Given the description of an element on the screen output the (x, y) to click on. 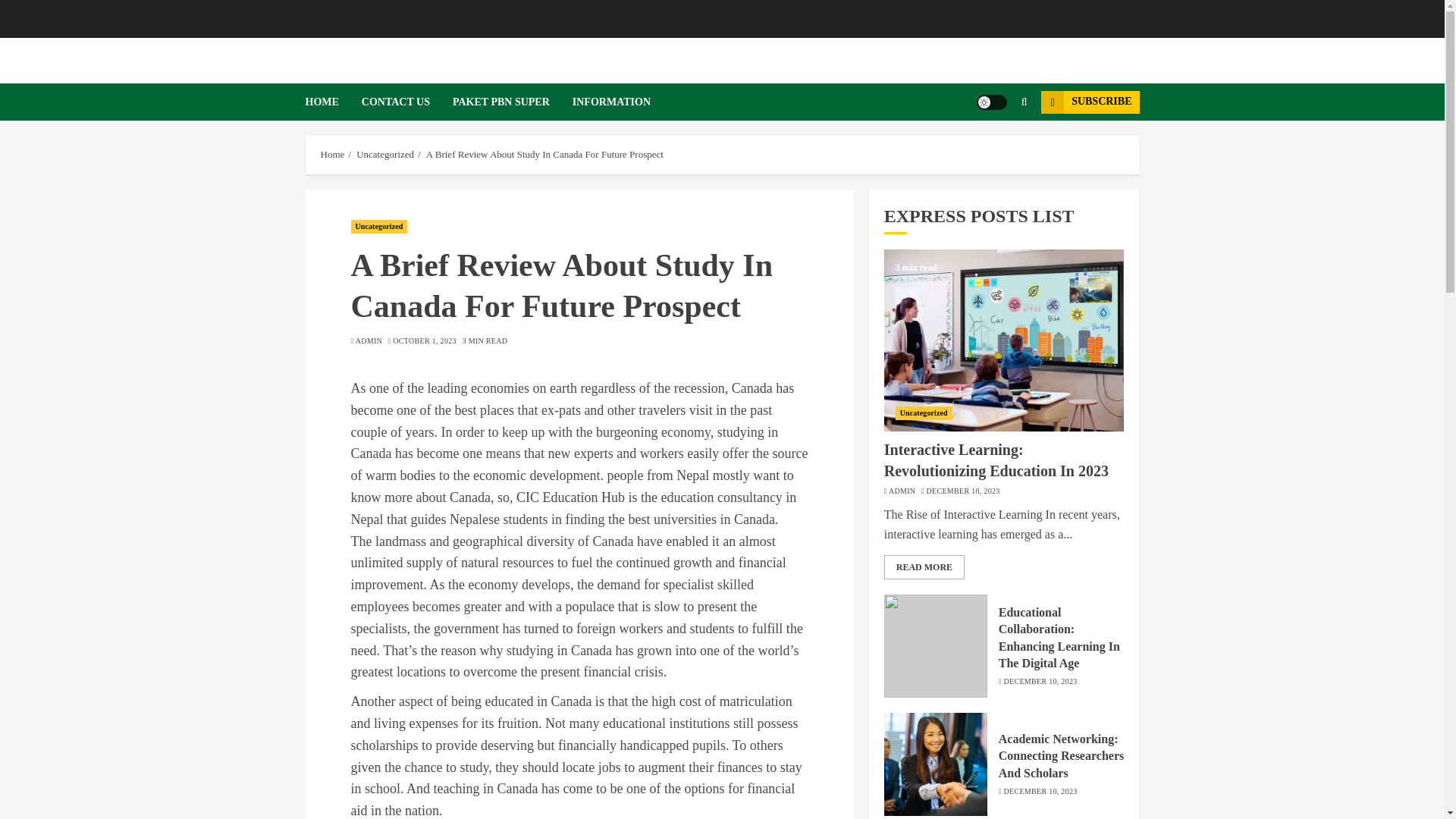
Uncategorized (384, 154)
Search (994, 147)
Uncategorized (378, 226)
HOME (332, 101)
SUBSCRIBE (1089, 101)
ADMIN (368, 340)
A Brief Review About Study In Canada For Future Prospect (544, 154)
PAKET PBN SUPER (512, 101)
CONTACT US (406, 101)
INFORMATION (611, 101)
